Given the description of an element on the screen output the (x, y) to click on. 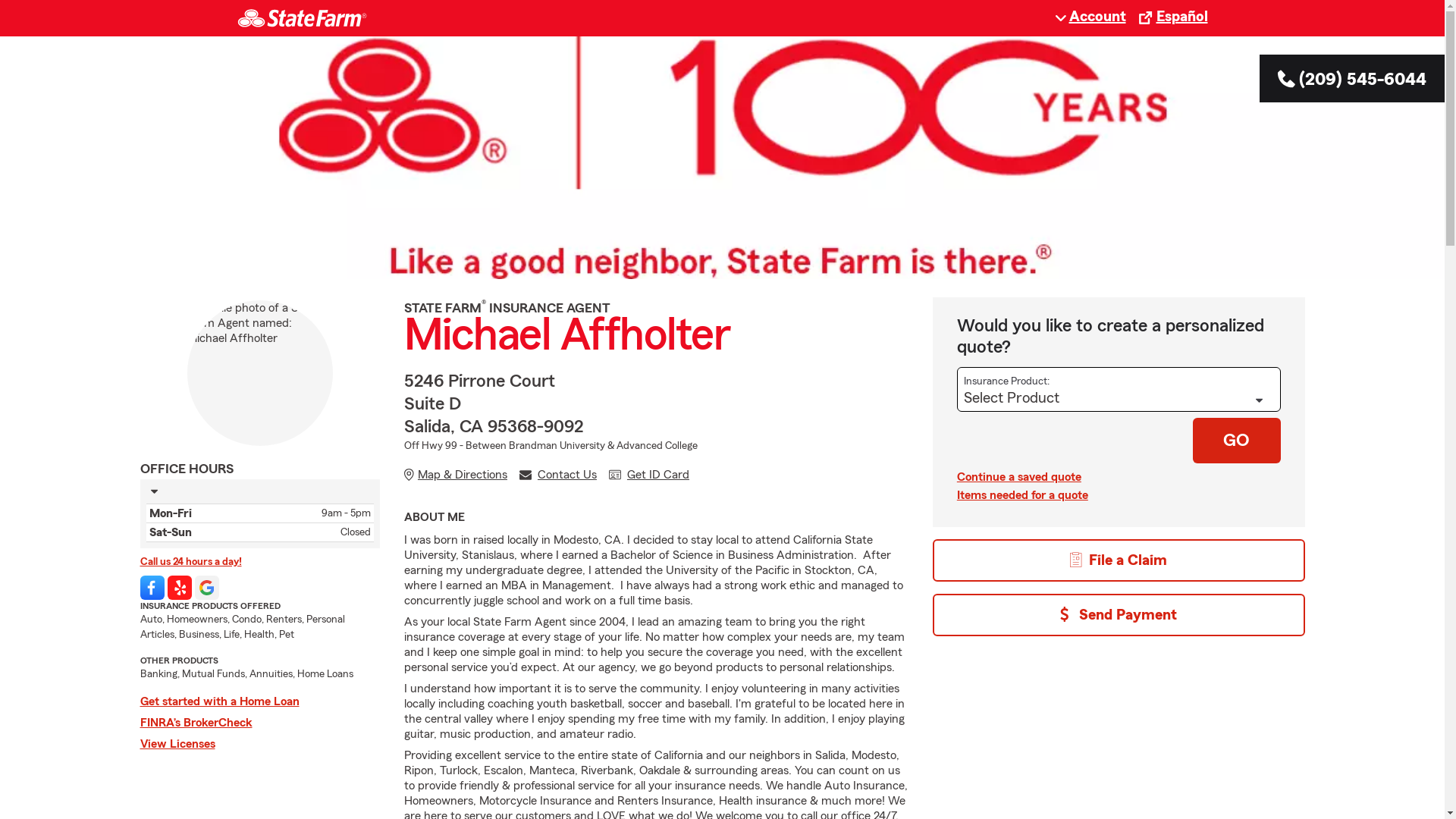
View Licenses Element type: text (259, 743)
Get started with a Home Loan Element type: text (259, 701)
Contact Us Element type: text (557, 474)
(209) 545-6044 Element type: text (1351, 79)
Items needed for a quote Element type: text (1118, 494)
Map & Directions Element type: text (455, 474)
Account Element type: text (1090, 16)
Send Payment Element type: text (1118, 614)
Call us 24 hours a day! Element type: text (259, 561)
Get ID Card Element type: text (648, 474)
GO Element type: text (1236, 440)
Continue a saved quote Element type: text (1118, 476)
File a Claim Element type: text (1118, 560)
